Given the description of an element on the screen output the (x, y) to click on. 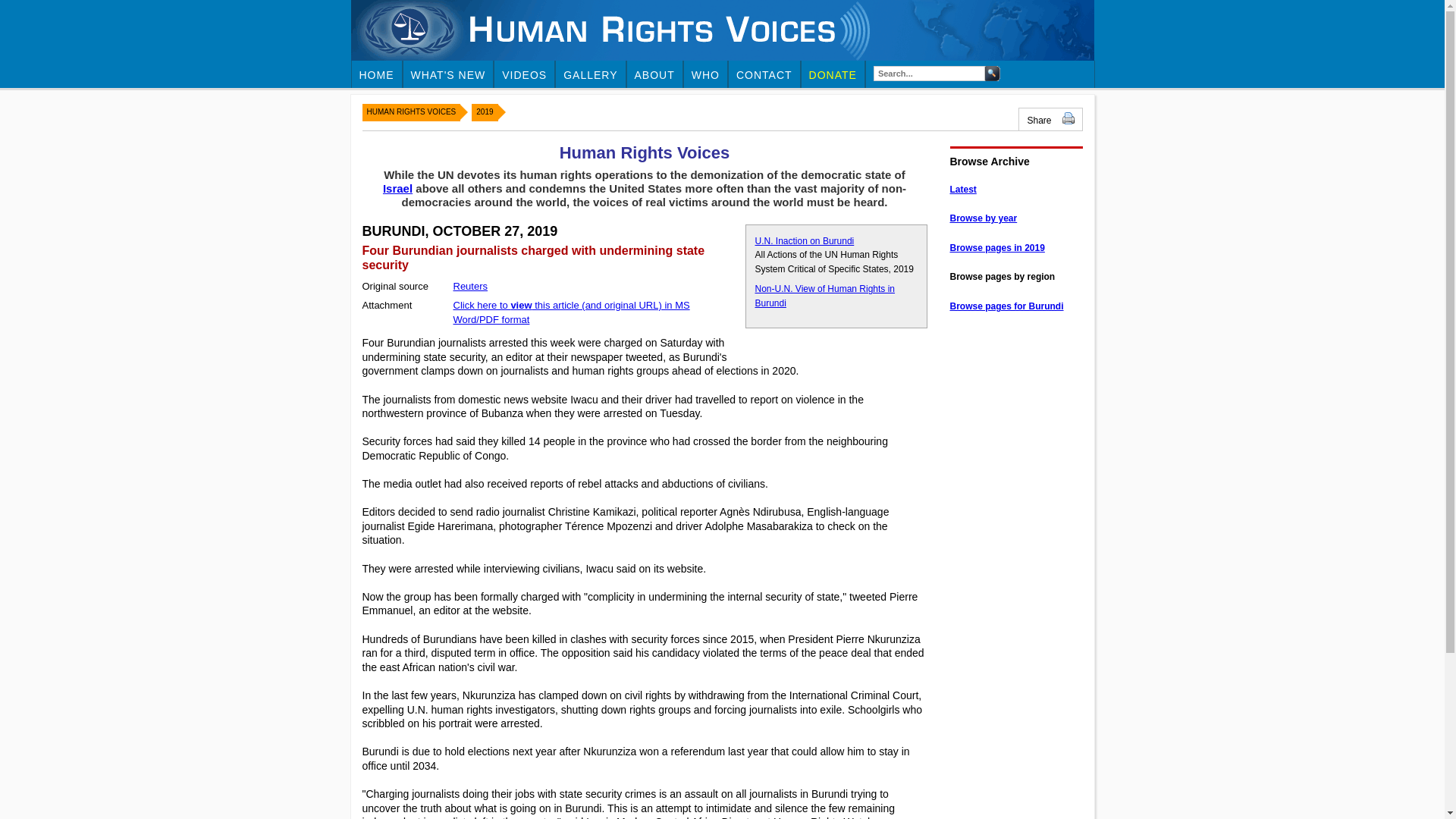
Browse pages in 2019 (996, 247)
ABOUT (654, 74)
Browse pages by region (1001, 276)
Israel (397, 187)
HOME (377, 74)
Reuters (469, 285)
CONTACT (764, 74)
Browse by year (982, 217)
DONATE (833, 74)
Latest (962, 189)
GALLERY (591, 74)
VIDEOS (524, 74)
Non-U.N. View of Human Rights in Burundi (825, 295)
WHAT'S NEW (449, 74)
WHO (706, 74)
